Given the description of an element on the screen output the (x, y) to click on. 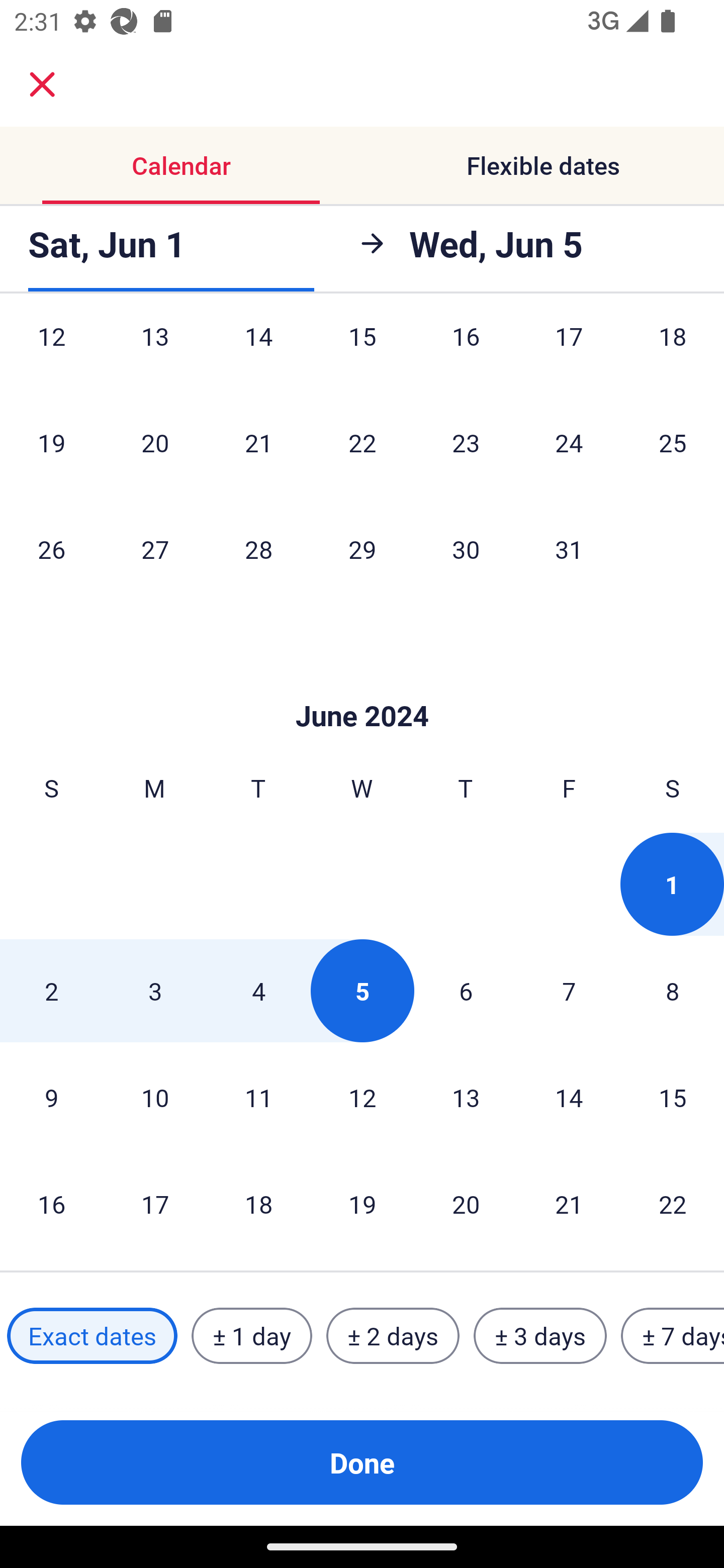
close. (42, 84)
Flexible dates (542, 164)
12 Sunday, May 12, 2024 (51, 354)
13 Monday, May 13, 2024 (155, 354)
14 Tuesday, May 14, 2024 (258, 354)
15 Wednesday, May 15, 2024 (362, 354)
16 Thursday, May 16, 2024 (465, 354)
17 Friday, May 17, 2024 (569, 354)
18 Saturday, May 18, 2024 (672, 354)
19 Sunday, May 19, 2024 (51, 441)
20 Monday, May 20, 2024 (155, 441)
21 Tuesday, May 21, 2024 (258, 441)
22 Wednesday, May 22, 2024 (362, 441)
23 Thursday, May 23, 2024 (465, 441)
24 Friday, May 24, 2024 (569, 441)
25 Saturday, May 25, 2024 (672, 441)
26 Sunday, May 26, 2024 (51, 548)
27 Monday, May 27, 2024 (155, 548)
28 Tuesday, May 28, 2024 (258, 548)
29 Wednesday, May 29, 2024 (362, 548)
30 Thursday, May 30, 2024 (465, 548)
31 Friday, May 31, 2024 (569, 548)
Skip to Done (362, 685)
6 Thursday, June 6, 2024 (465, 990)
7 Friday, June 7, 2024 (569, 990)
8 Saturday, June 8, 2024 (672, 990)
9 Sunday, June 9, 2024 (51, 1097)
10 Monday, June 10, 2024 (155, 1097)
11 Tuesday, June 11, 2024 (258, 1097)
12 Wednesday, June 12, 2024 (362, 1097)
13 Thursday, June 13, 2024 (465, 1097)
14 Friday, June 14, 2024 (569, 1097)
15 Saturday, June 15, 2024 (672, 1097)
16 Sunday, June 16, 2024 (51, 1203)
17 Monday, June 17, 2024 (155, 1203)
18 Tuesday, June 18, 2024 (258, 1203)
19 Wednesday, June 19, 2024 (362, 1203)
20 Thursday, June 20, 2024 (465, 1203)
21 Friday, June 21, 2024 (569, 1203)
22 Saturday, June 22, 2024 (672, 1203)
Exact dates (92, 1335)
± 1 day (251, 1335)
± 2 days (392, 1335)
± 3 days (539, 1335)
± 7 days (672, 1335)
Done (361, 1462)
